Given the description of an element on the screen output the (x, y) to click on. 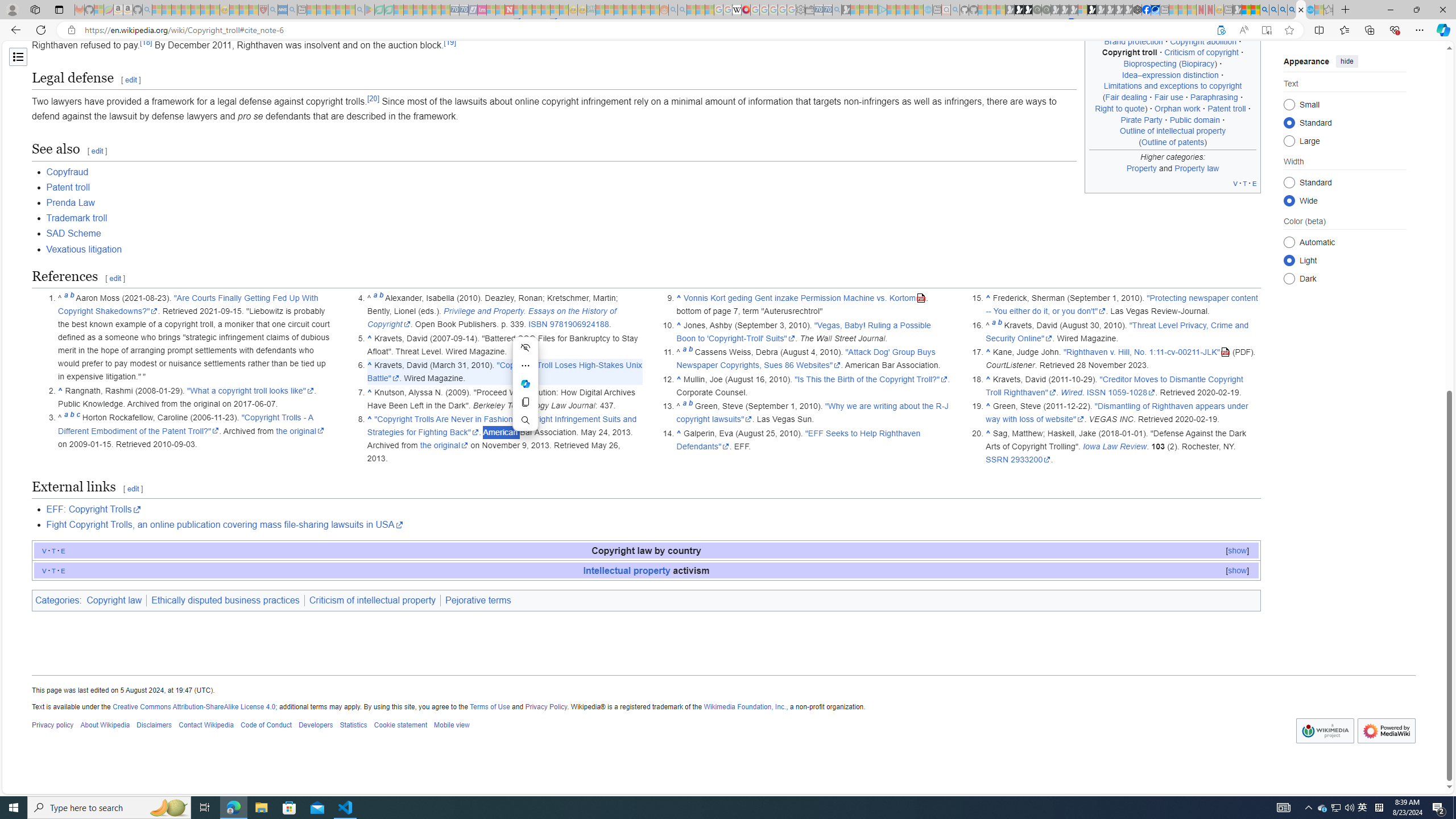
Copyright abolition (1203, 40)
e (63, 569)
github - Search - Sleeping (954, 9)
hide (1347, 60)
SAD Scheme (73, 233)
EFF: Copyright Trolls (653, 509)
Class: mw-list-item mw-list-item-js (1345, 259)
Right to quote (1119, 108)
Future Focus Report 2024 - Sleeping (1045, 9)
